Given the description of an element on the screen output the (x, y) to click on. 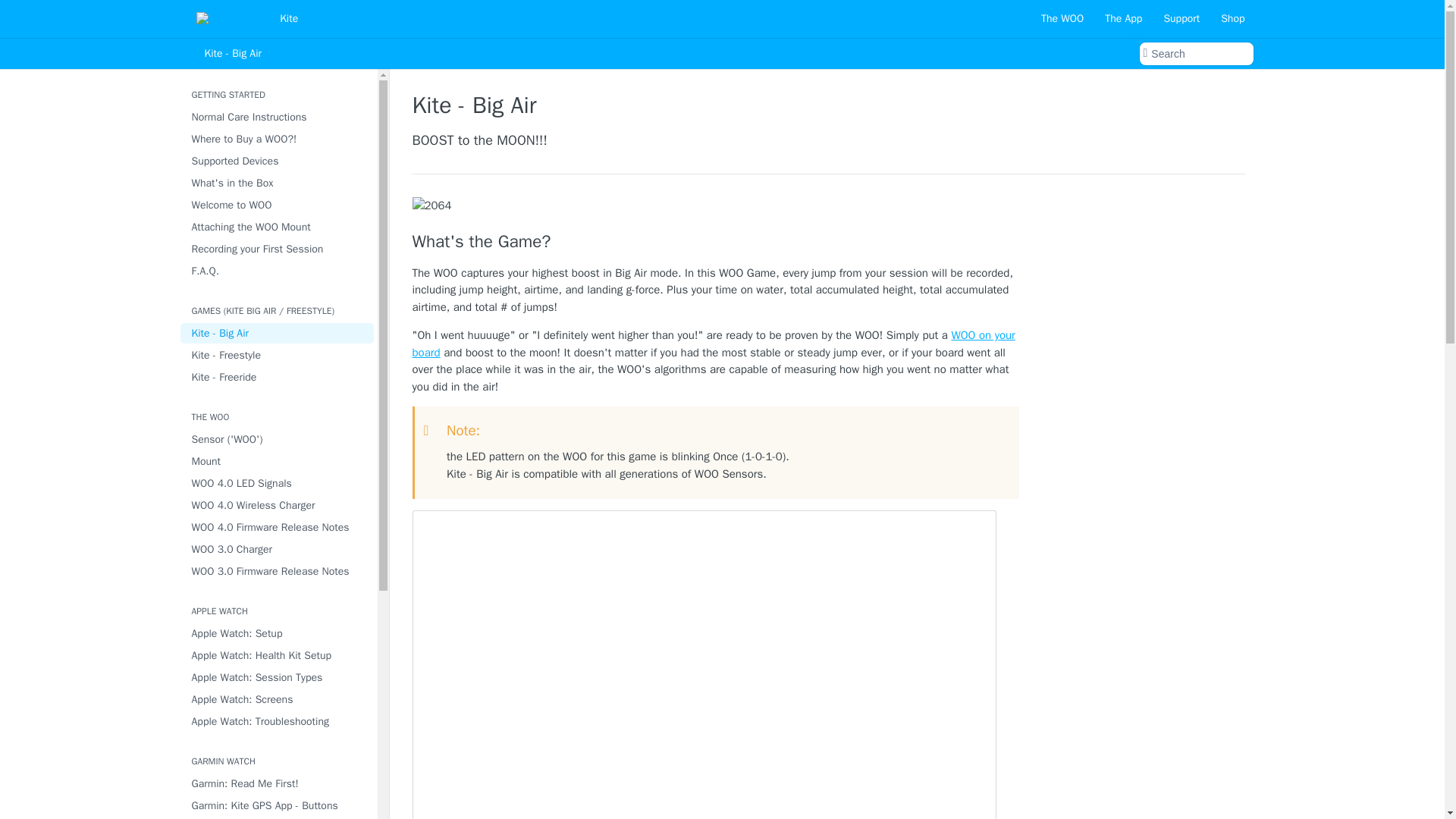
Mount (277, 461)
Kite - Freeride (277, 376)
Attaching the WOO Mount (277, 227)
WOO 4.0 LED Signals (277, 483)
Normal Care Instructions (277, 117)
Kite - Big Air (277, 332)
WOO 3.0 Firmware Release Notes (277, 571)
The App (1123, 18)
F.A.Q. (277, 271)
Apple Watch: Session Types (277, 677)
Kite - Freestyle (277, 354)
Recording your First Session (277, 249)
Search (1195, 53)
Where to Buy a WOO?! (277, 138)
WOO 4.0 Firmware Release Notes (277, 526)
